Given the description of an element on the screen output the (x, y) to click on. 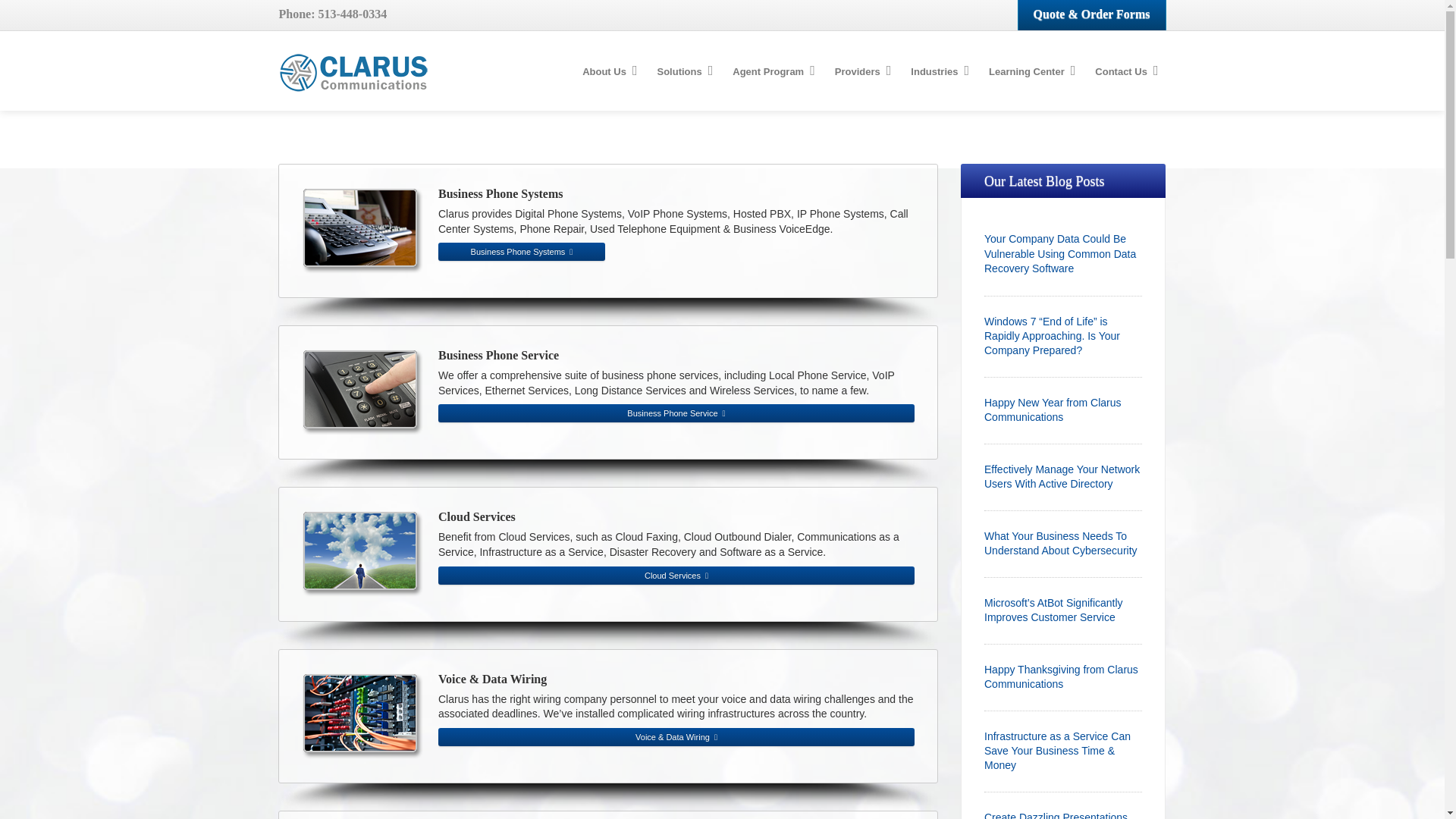
Solutions (682, 72)
About Us (607, 72)
513-448-0334 (352, 13)
